Given the description of an element on the screen output the (x, y) to click on. 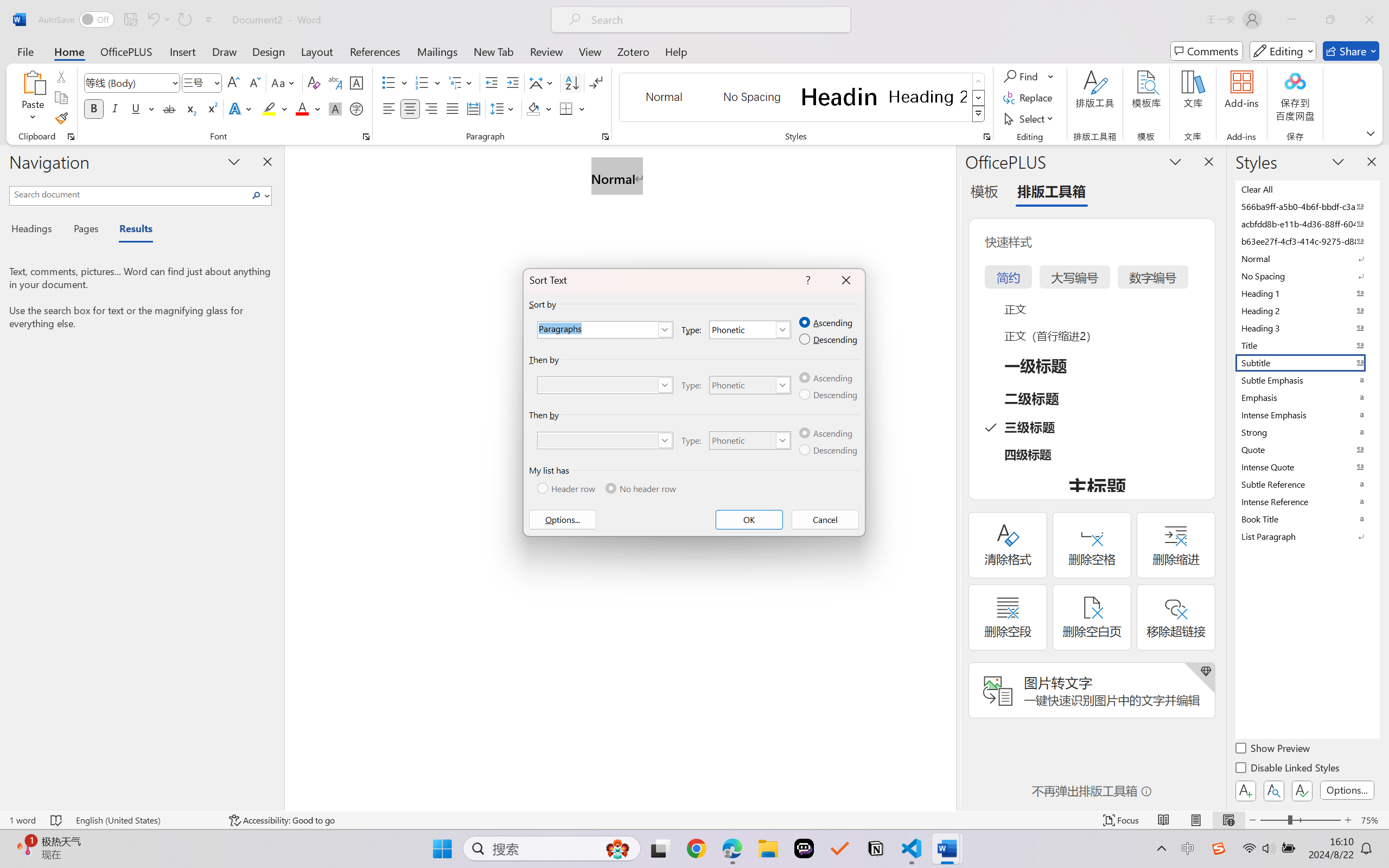
Row up (978, 81)
AutoSave (76, 19)
acbfdd8b-e11b-4d36-88ff-6049b138f862 (1306, 223)
Borders (566, 108)
Multilevel List (461, 82)
Center (409, 108)
Clear Formatting (313, 82)
Align Right (431, 108)
Google Chrome (696, 848)
